Given the description of an element on the screen output the (x, y) to click on. 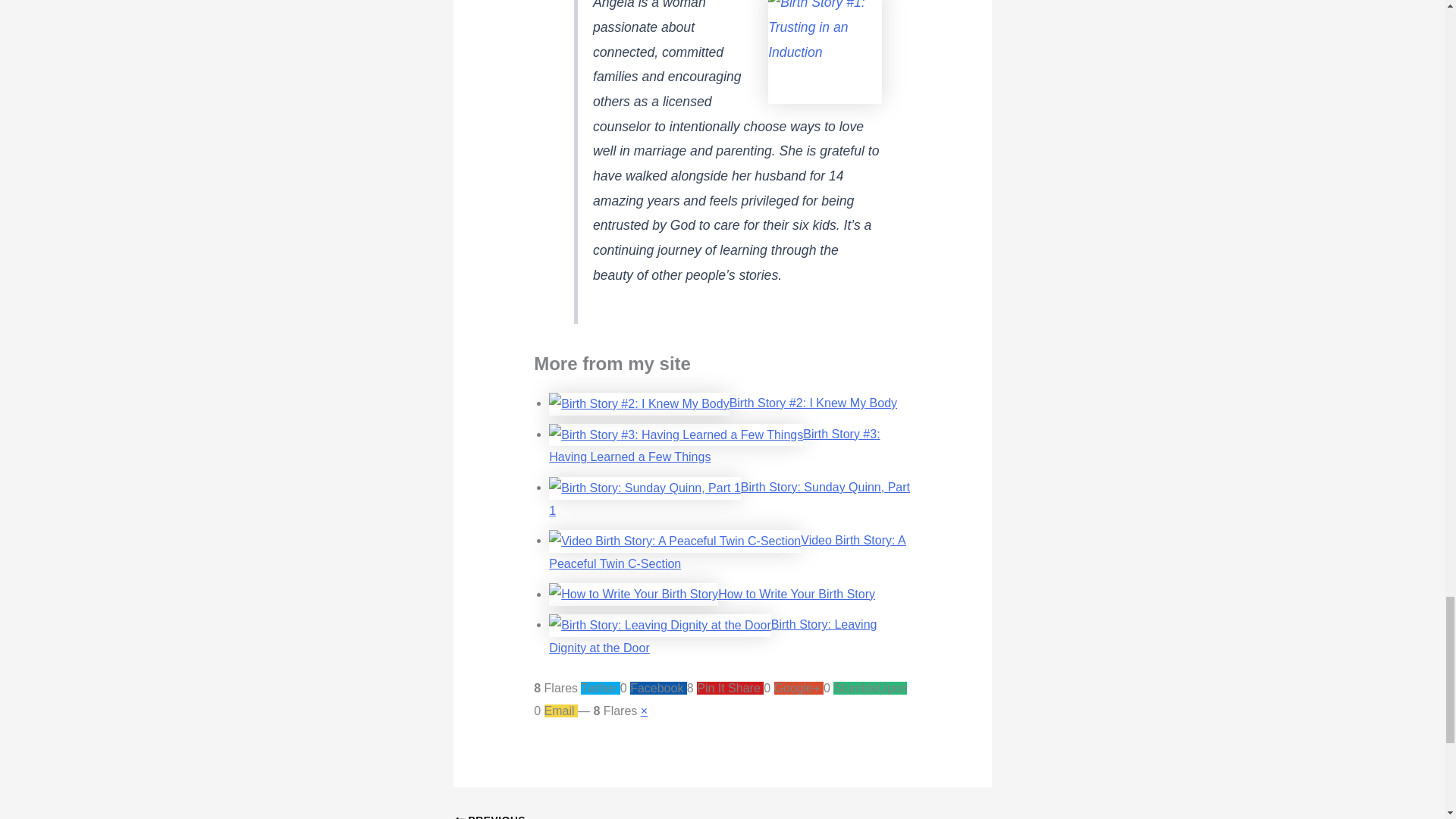
Birth Story: Sunday Quinn, Part 1 (729, 498)
Dear Mom, Thank You (561, 816)
Birth Story: Leaving Dignity at the Door (561, 816)
How to Write Your Birth Story (712, 636)
Video Birth Story: A Peaceful Twin C-Section (796, 594)
